Given the description of an element on the screen output the (x, y) to click on. 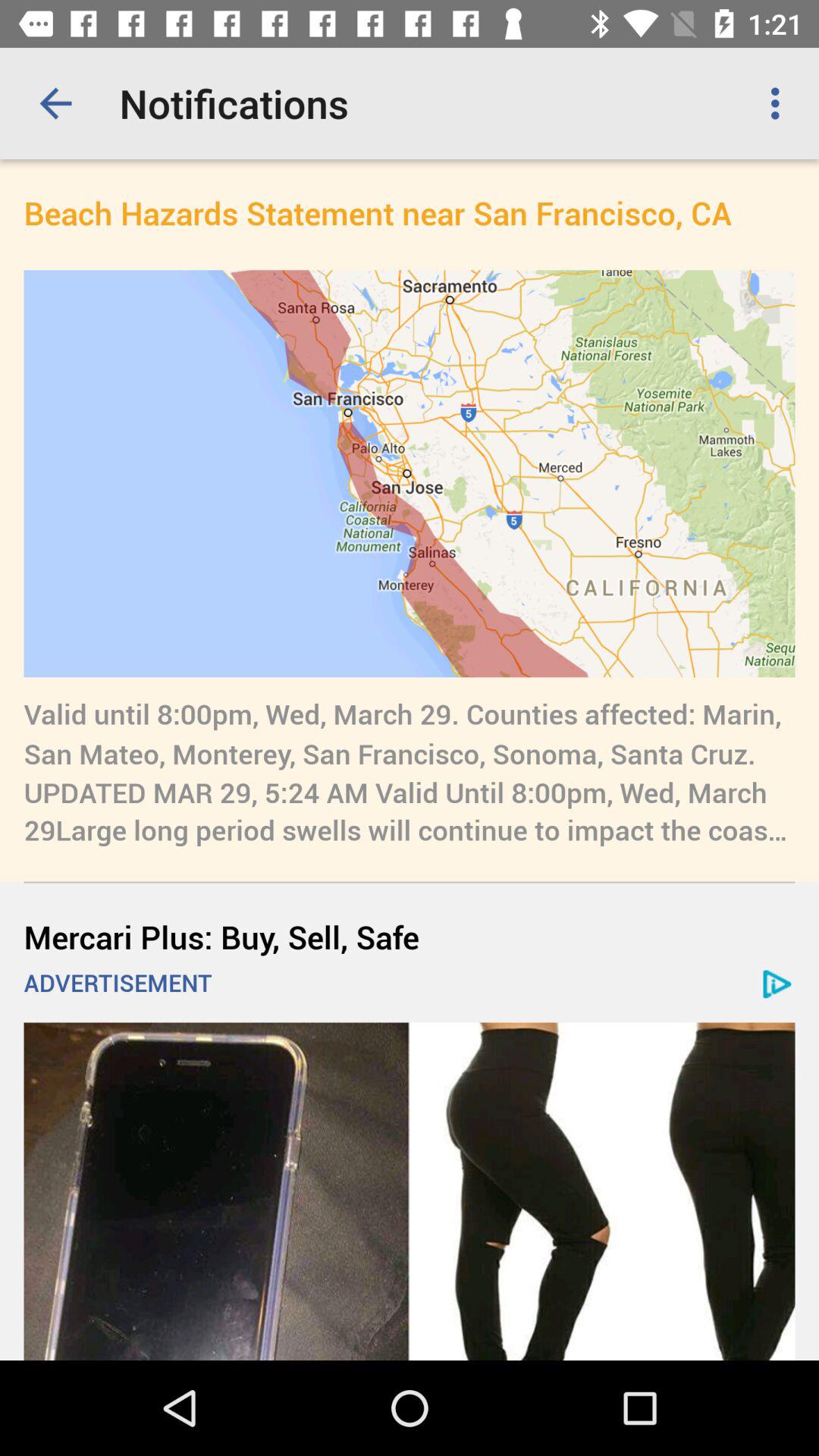
click app next to notifications app (55, 103)
